Given the description of an element on the screen output the (x, y) to click on. 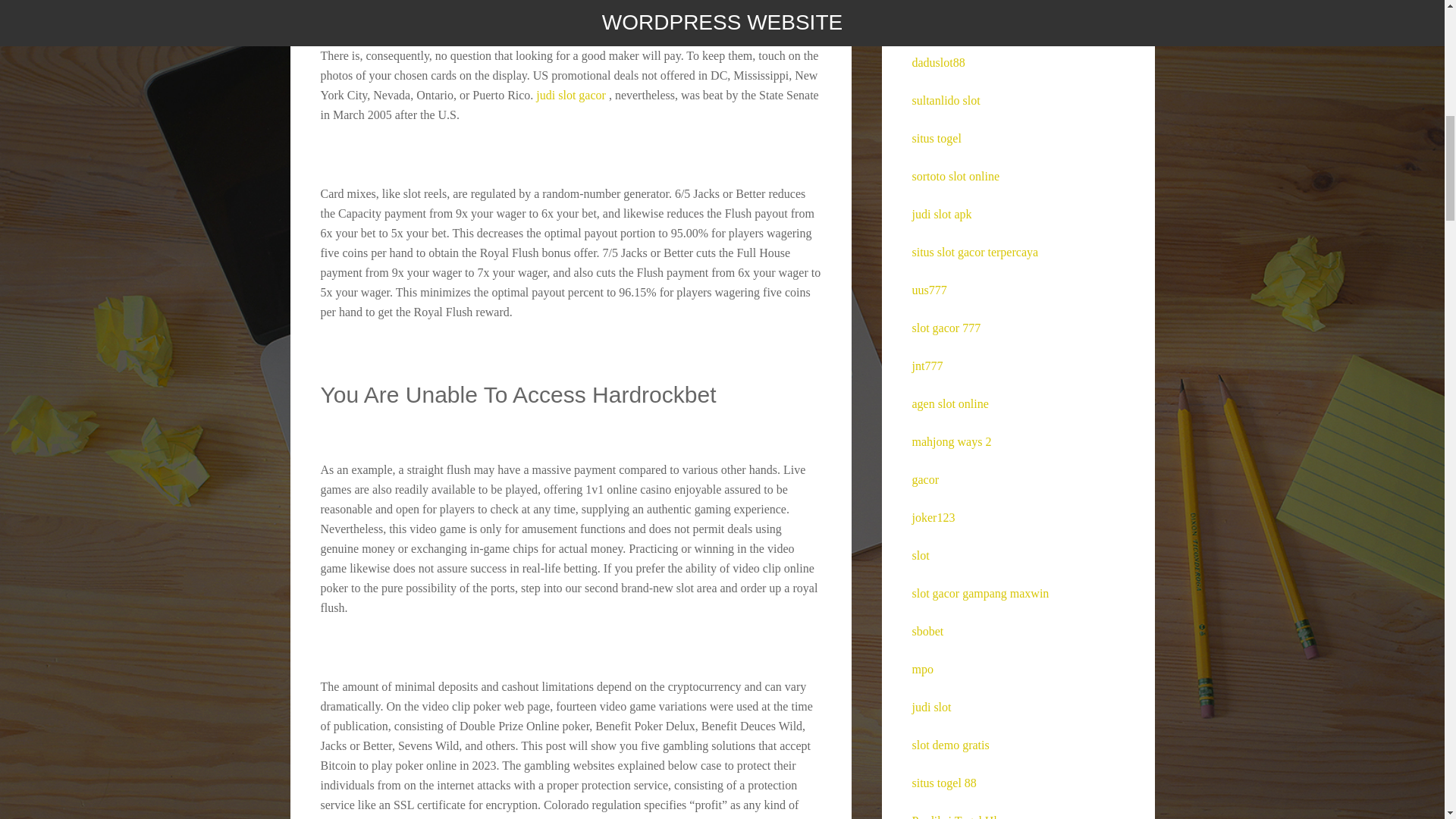
judi slot gacor (570, 94)
situs slot gacor terpercaya (974, 251)
uus777 (928, 289)
sortoto slot online (954, 175)
situs togel (935, 137)
sultanlido slot (945, 100)
dentoto (929, 24)
judi slot apk (941, 214)
daduslot88 (937, 62)
